Given the description of an element on the screen output the (x, y) to click on. 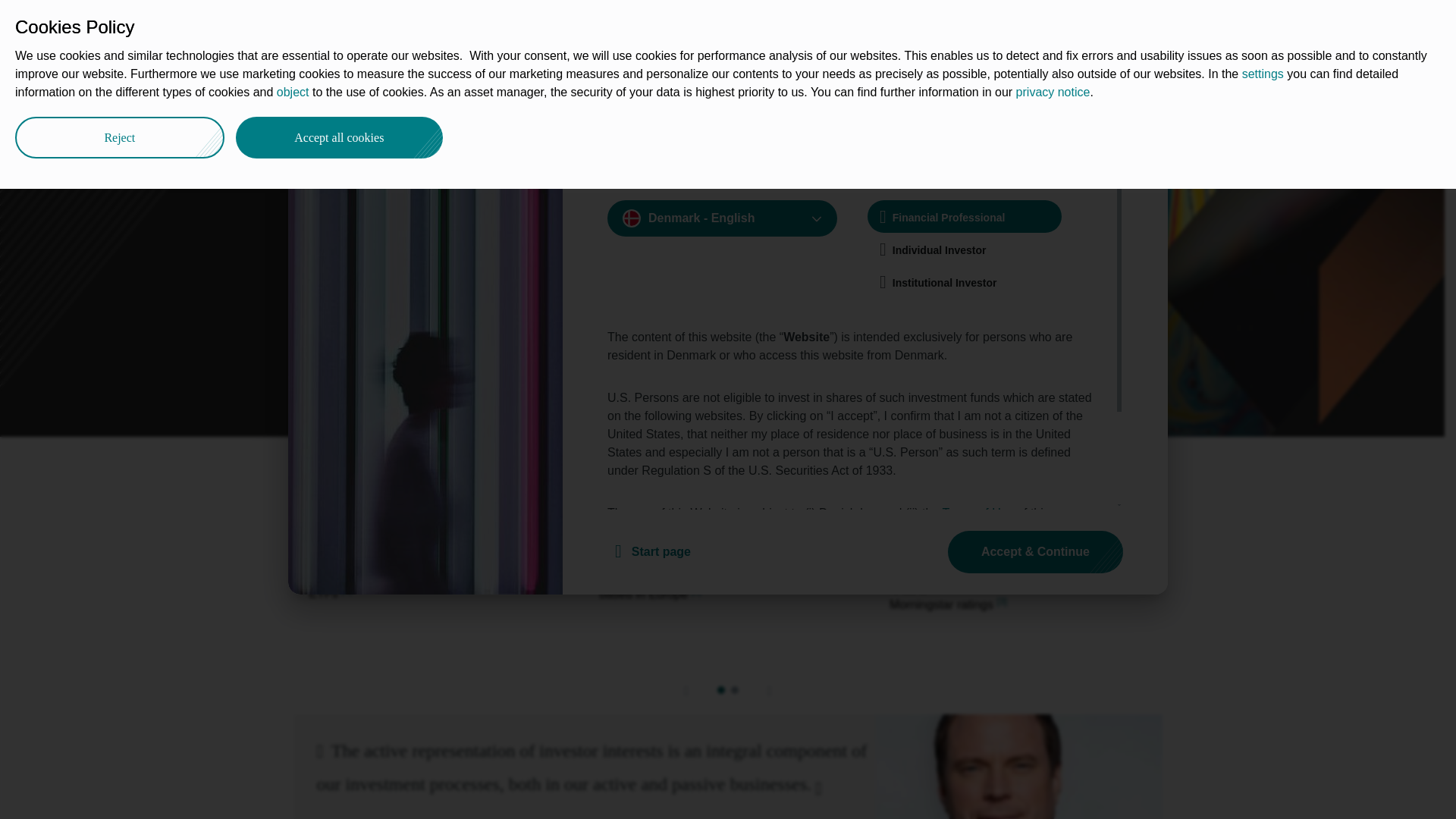
Share (1140, 90)
Capabilities (370, 92)
DWS - Investors for a new now (307, 92)
Capabilities (370, 92)
Home (307, 92)
Capabilities (501, 24)
Solutions (586, 24)
